Given the description of an element on the screen output the (x, y) to click on. 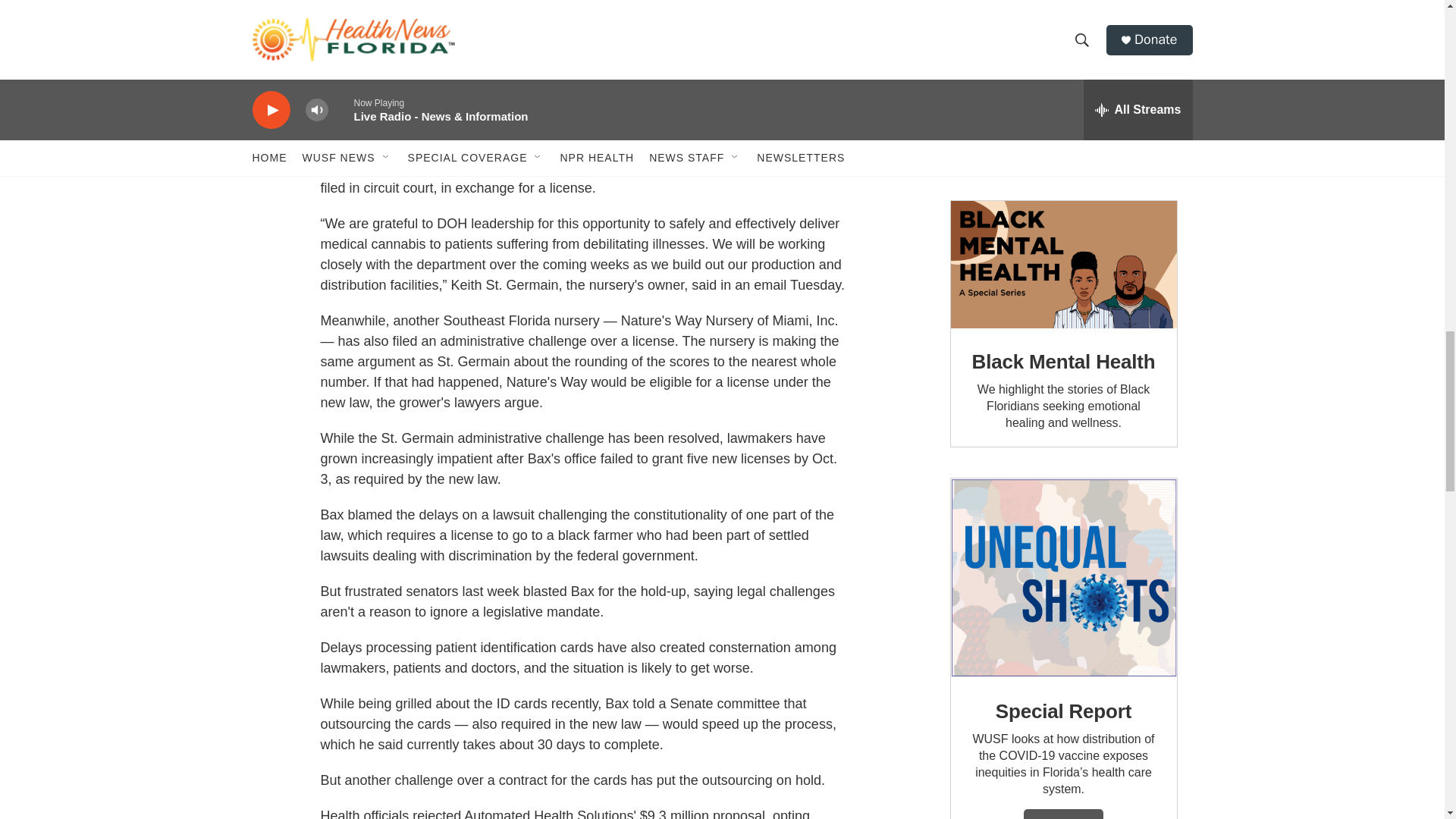
3rd party ad content (1062, 84)
